Given the description of an element on the screen output the (x, y) to click on. 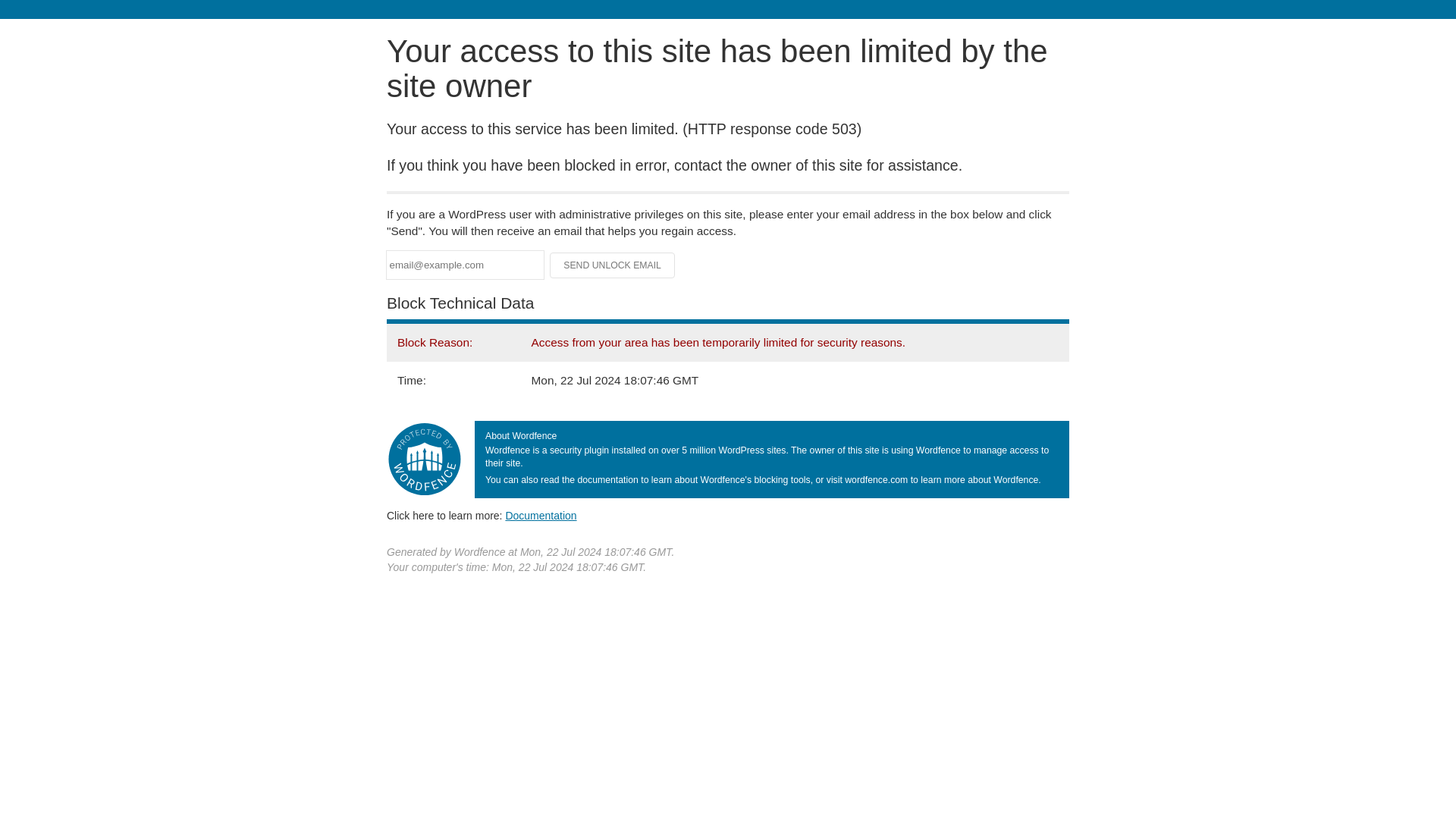
Documentation (540, 515)
Send Unlock Email (612, 265)
Send Unlock Email (612, 265)
